Given the description of an element on the screen output the (x, y) to click on. 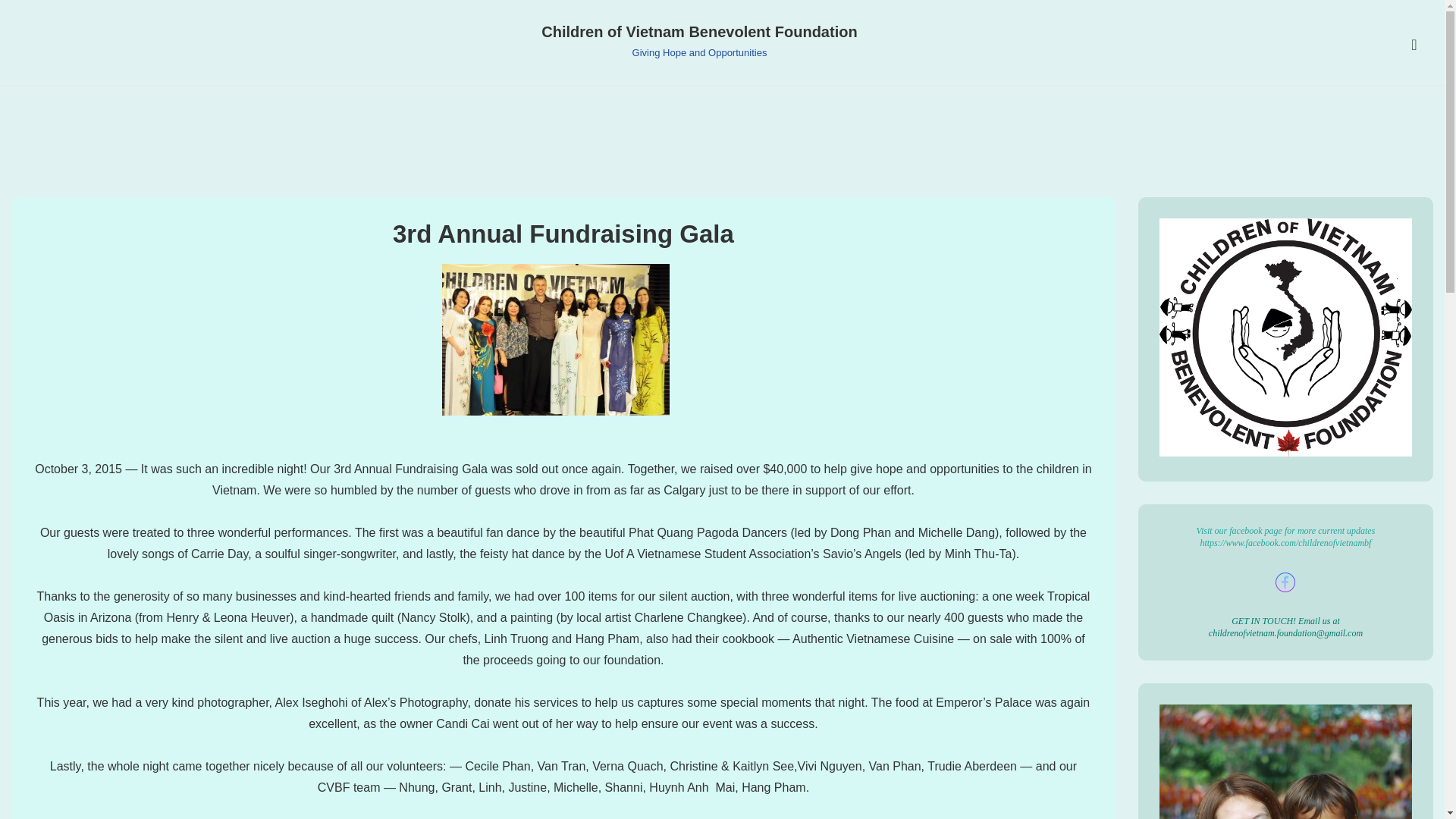
Children of Vietnam Benevolent Foundation (699, 31)
MENU (1414, 44)
